Given the description of an element on the screen output the (x, y) to click on. 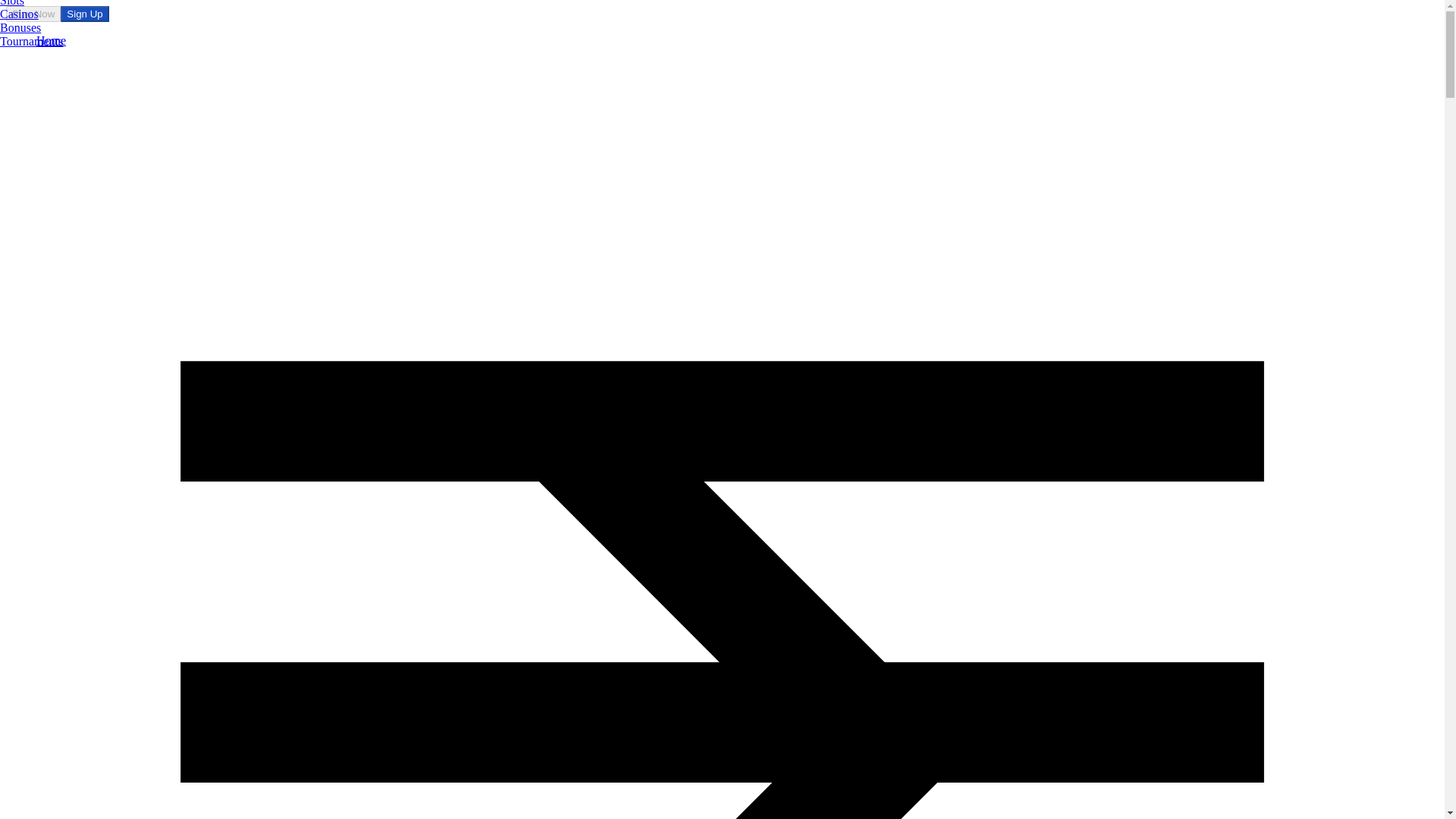
Play Now (33, 13)
Sign Up (84, 13)
Home (50, 40)
